Given the description of an element on the screen output the (x, y) to click on. 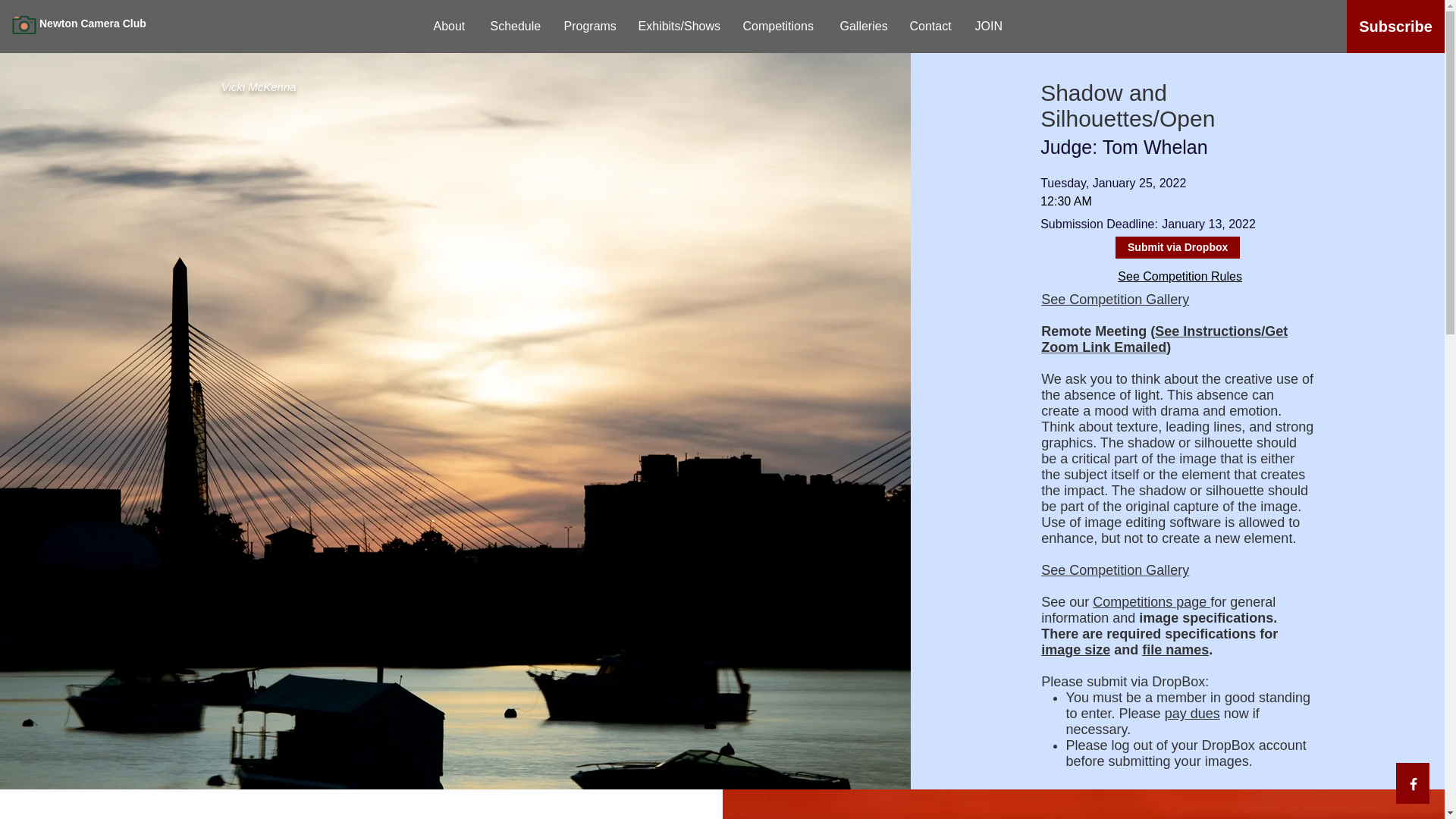
pay dues (1192, 713)
See Competition Gallery (1115, 570)
Programs (588, 26)
Competitions (779, 26)
See Competition Rules (1179, 276)
Newton Camera Club (112, 23)
See Competition Gallery (1115, 299)
About (450, 26)
Galleries (863, 26)
JOIN (987, 26)
